Given the description of an element on the screen output the (x, y) to click on. 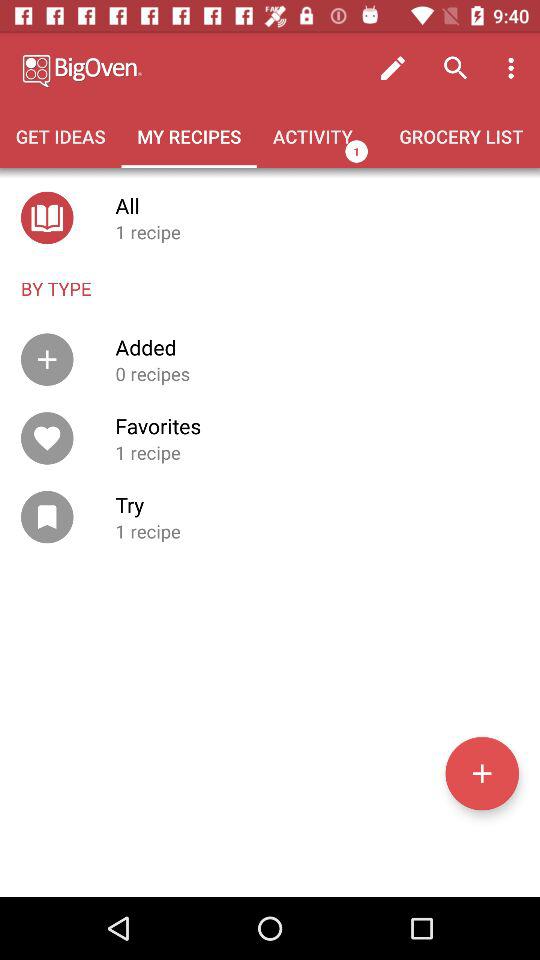
add more details (482, 773)
